Given the description of an element on the screen output the (x, y) to click on. 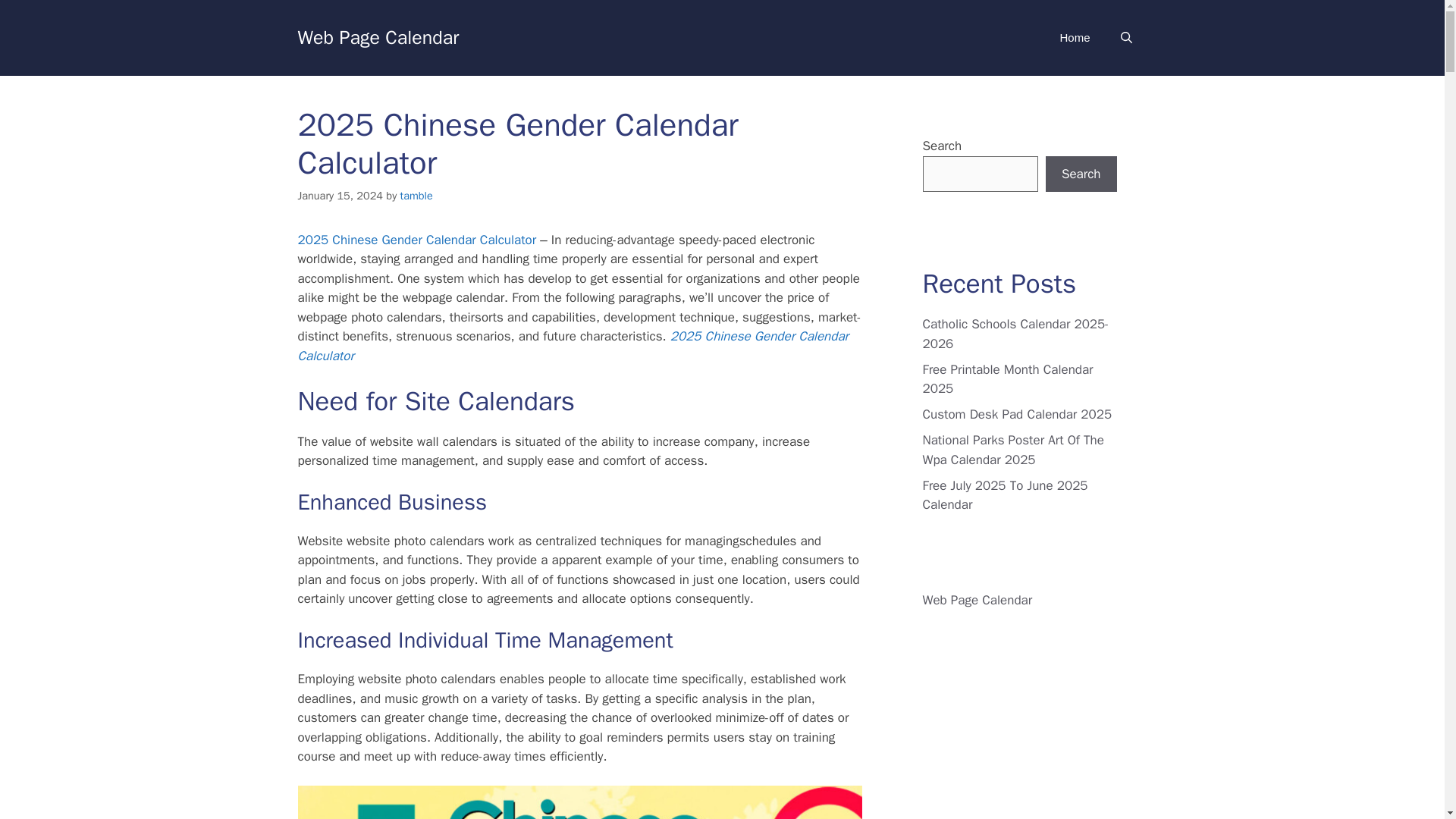
National Parks Poster Art Of The Wpa Calendar 2025 (1012, 449)
View all posts by tamble (416, 195)
2025 Chinese Gender Calendar Calculator (572, 345)
Free July 2025 To June 2025 Calendar (1004, 495)
tamble (416, 195)
Custom Desk Pad Calendar 2025 (1016, 414)
Free Printable Month Calendar 2025 (1007, 378)
Catholic Schools Calendar 2025-2026 (1014, 334)
Web Page Calendar (976, 599)
2025 Chinese Gender Calendar Calculator (416, 239)
